Given the description of an element on the screen output the (x, y) to click on. 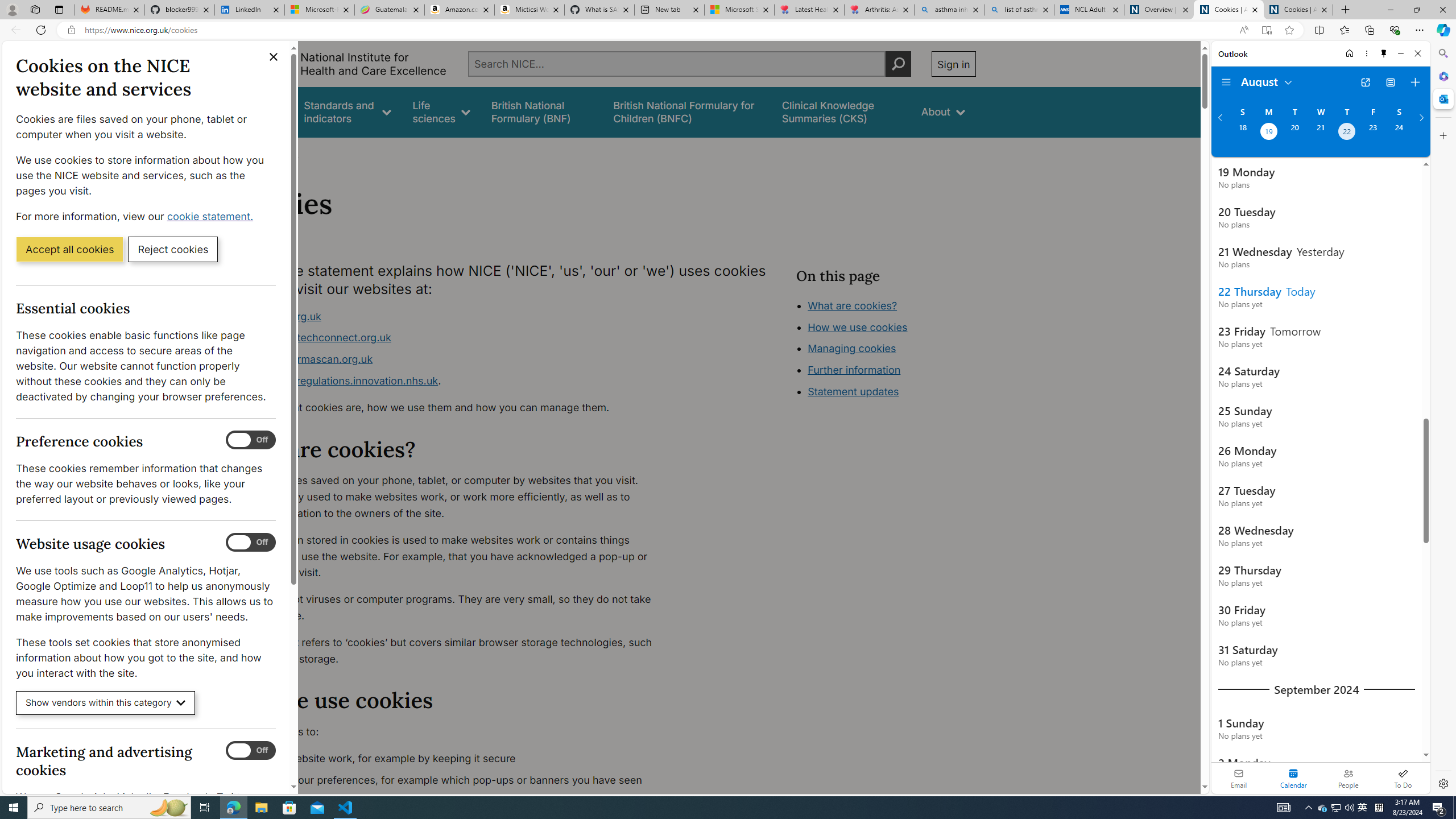
Wednesday, August 21, 2024.  (1320, 132)
Marketing and advertising cookies (250, 750)
Sunday, August 18, 2024.  (1242, 132)
www.nice.org.uk (452, 316)
Accept all cookies (69, 248)
www.healthtechconnect.org.uk (314, 337)
